Given the description of an element on the screen output the (x, y) to click on. 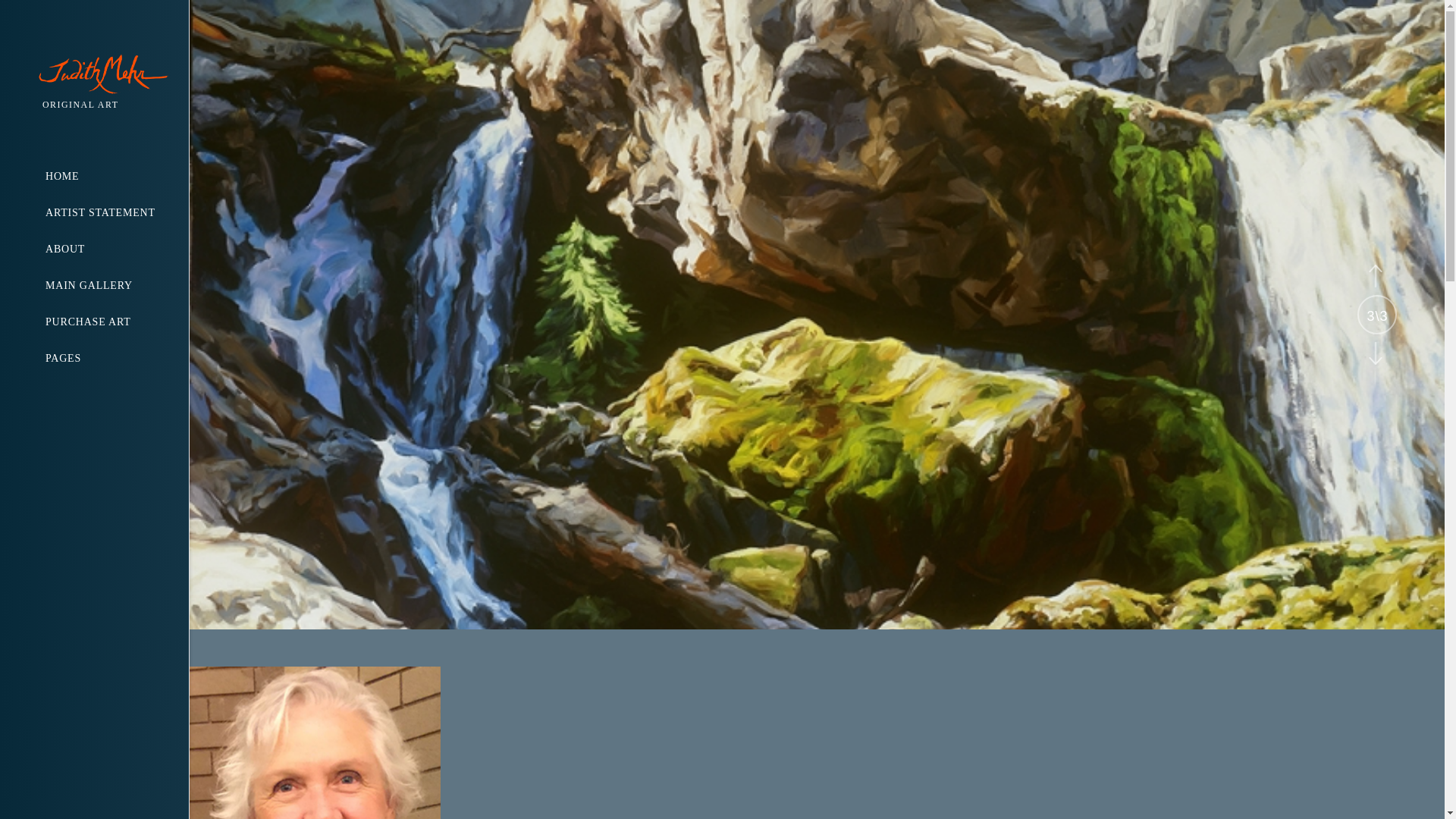
ABOUT (117, 249)
Judith Mehr (113, 75)
HOME (117, 176)
PURCHASE ART (117, 321)
MAIN GALLERY (117, 285)
ARTIST STATEMENT (117, 212)
